Given the description of an element on the screen output the (x, y) to click on. 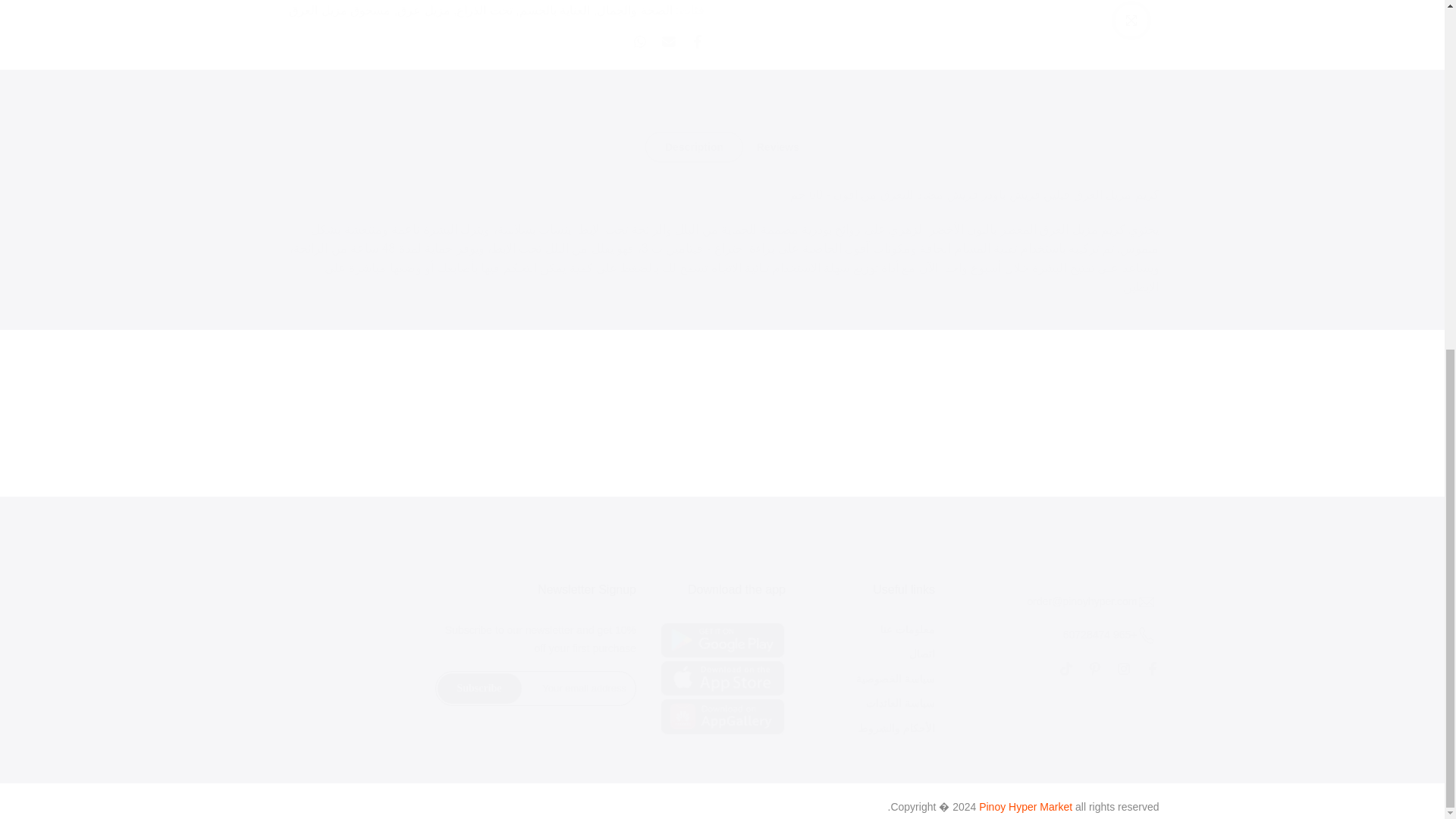
Description (693, 146)
